Given the description of an element on the screen output the (x, y) to click on. 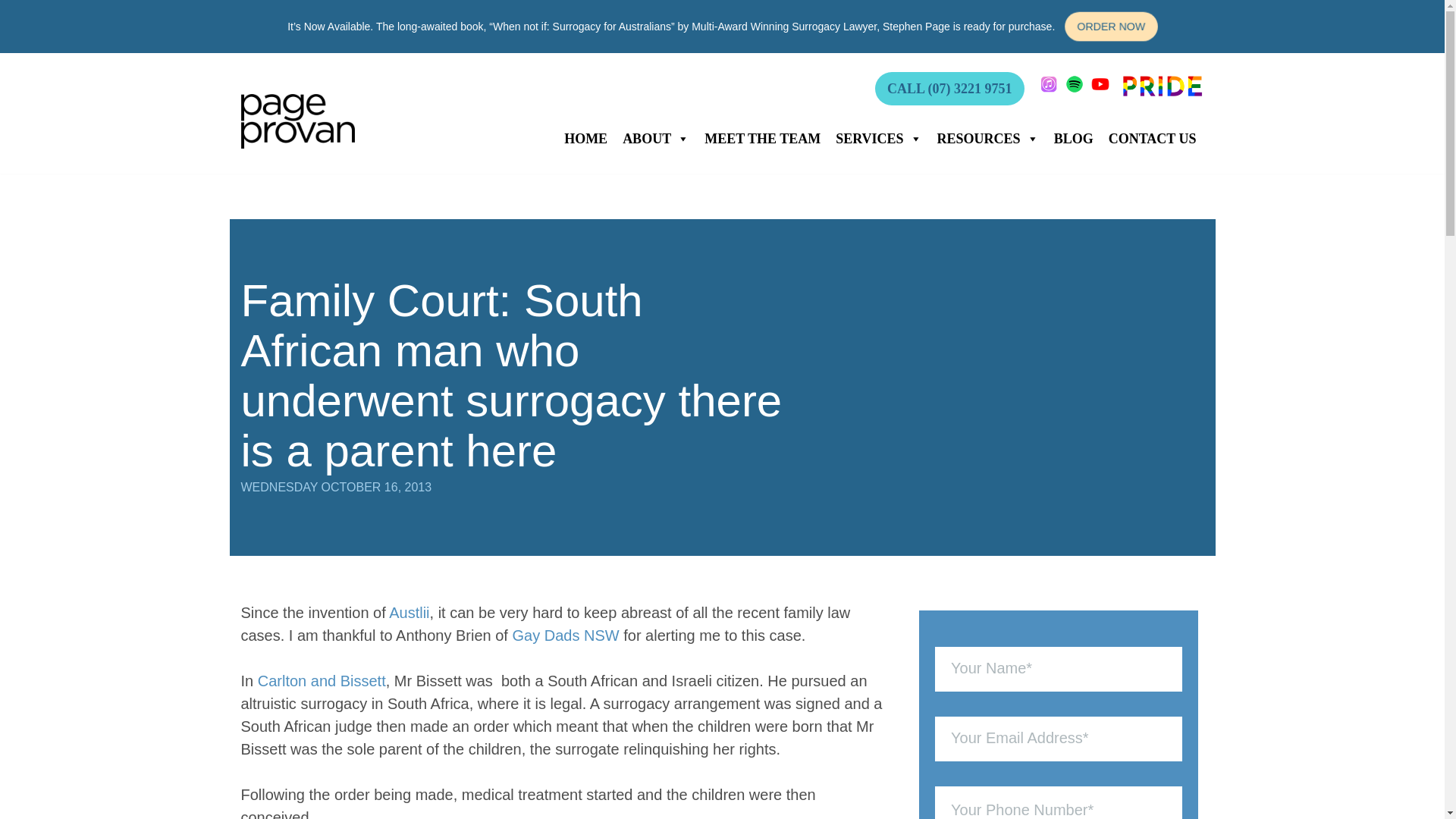
HOME (585, 138)
RESOURCES (988, 138)
SERVICES (878, 138)
Skip to content (11, 31)
CONTACT US (1152, 138)
ORDER NOW (1111, 26)
BLOG (1073, 138)
ABOUT (655, 138)
MEET THE TEAM (762, 138)
